Given the description of an element on the screen output the (x, y) to click on. 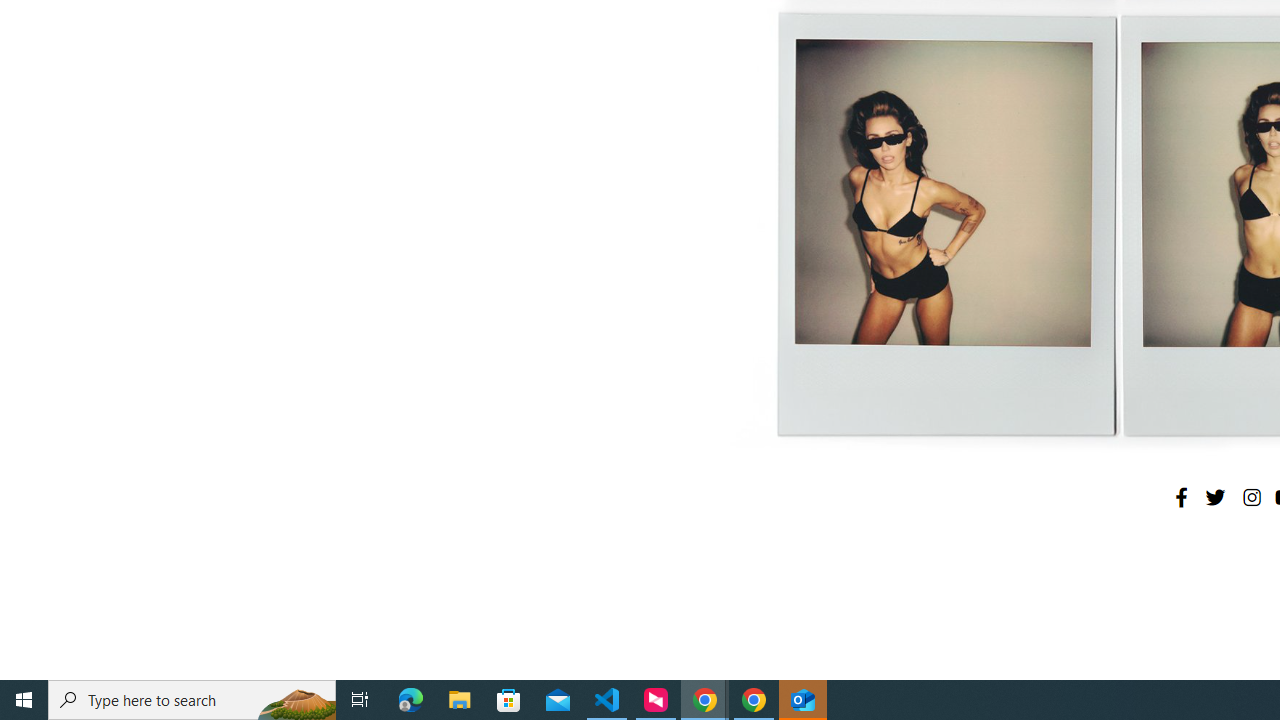
Instagram (1251, 497)
Facebook (1181, 497)
